Given the description of an element on the screen output the (x, y) to click on. 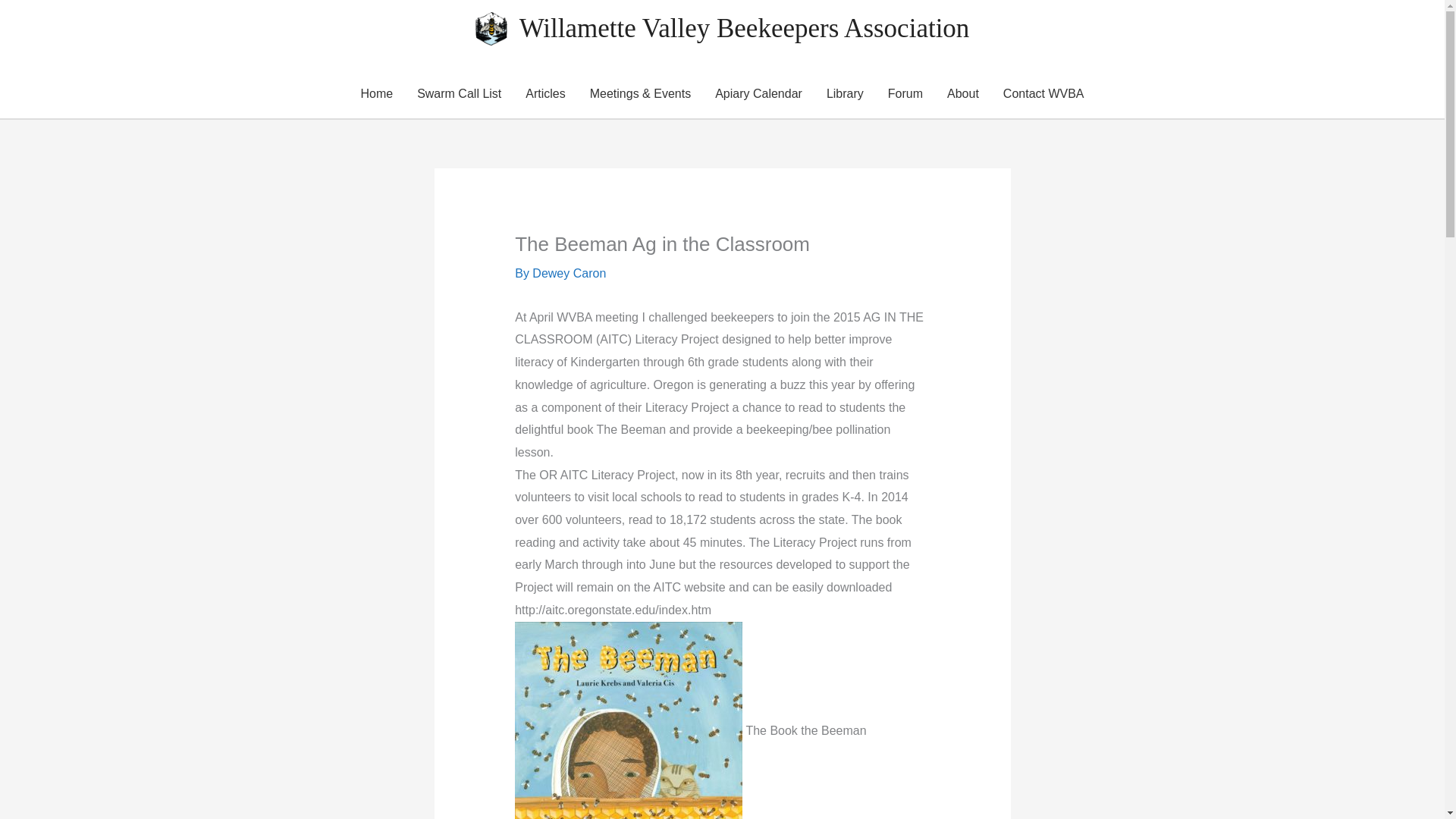
Willamette Valley Beekeepers Association (744, 28)
Forum (905, 93)
Contact WVBA (1043, 93)
View all Articles by Dewey Caron (568, 273)
About (962, 93)
Home (375, 93)
Dewey Caron (568, 273)
Library (844, 93)
